Given the description of an element on the screen output the (x, y) to click on. 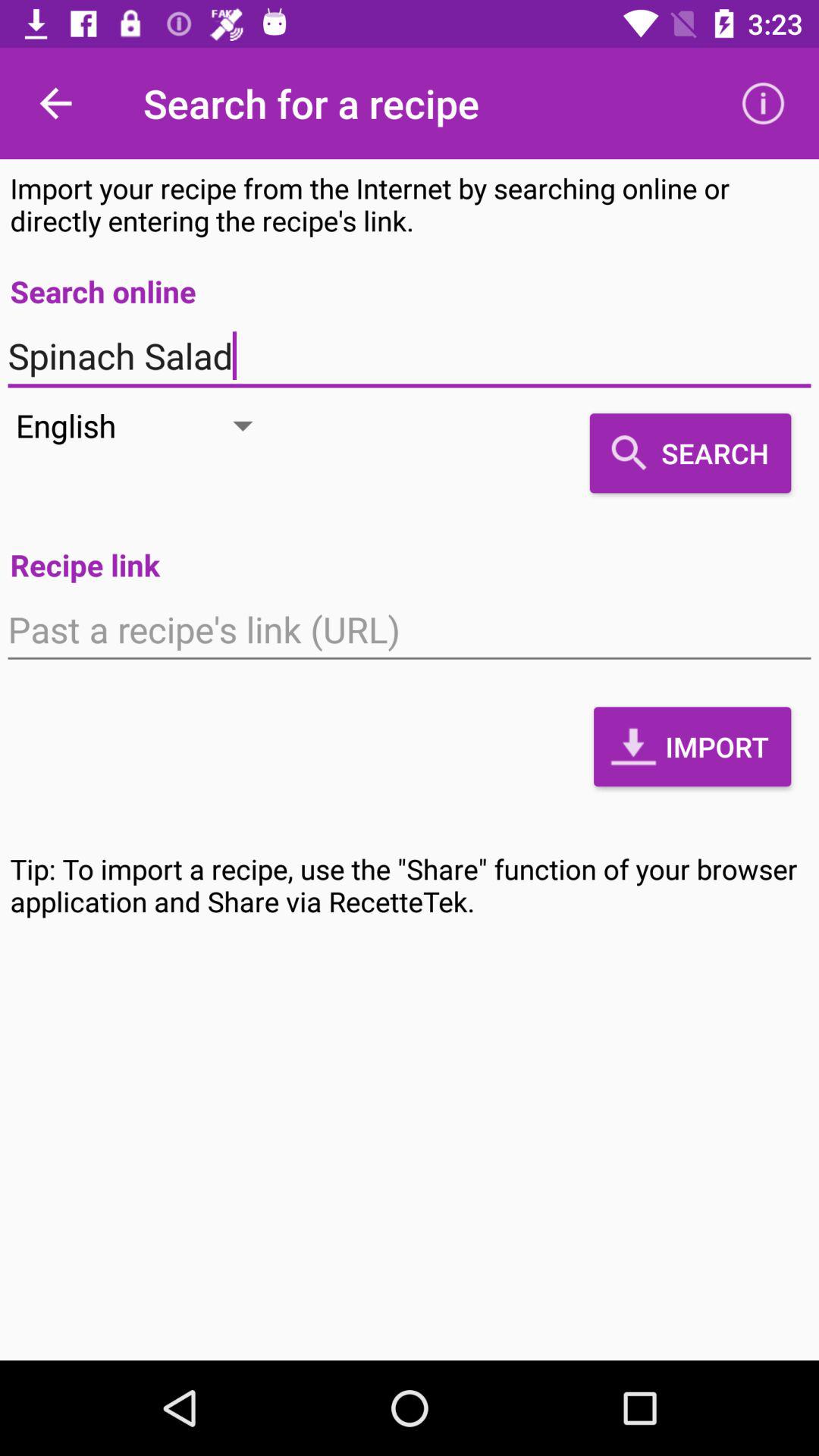
choose the icon below recipe link (409, 630)
